Given the description of an element on the screen output the (x, y) to click on. 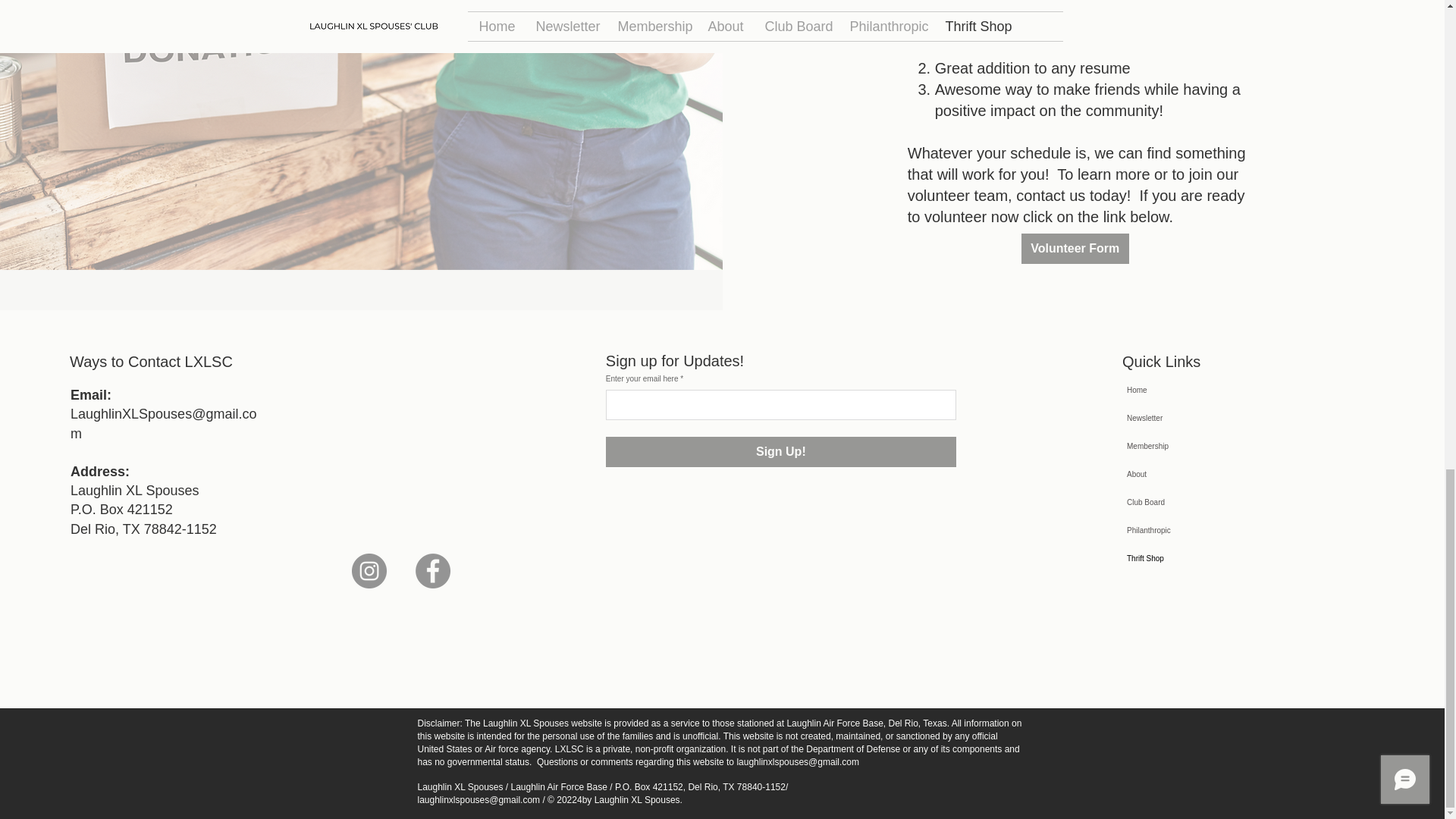
Newsletter (1174, 418)
Sign Up! (780, 451)
Home (1174, 389)
Philanthropic (1174, 530)
Volunteer Form (1075, 248)
About (1174, 474)
Membership (1174, 446)
Club Board (1174, 502)
Thrift Shop (1174, 558)
